Given the description of an element on the screen output the (x, y) to click on. 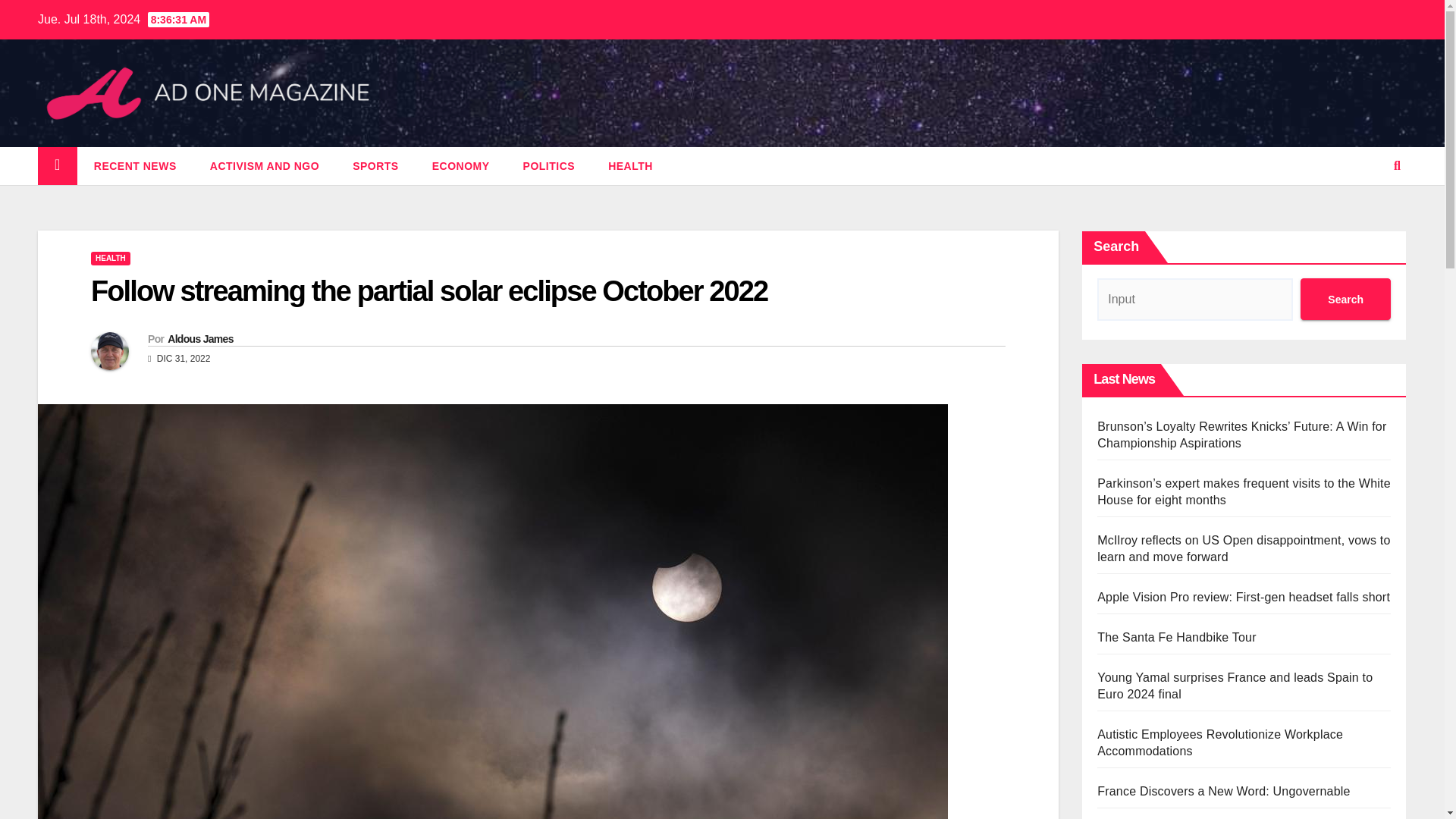
Health (630, 166)
Search (1345, 299)
Activism and NGO (264, 166)
Recent news (135, 166)
ECONOMY (460, 166)
RECENT NEWS (135, 166)
HEALTH (630, 166)
Economy (460, 166)
Sports (375, 166)
SPORTS (375, 166)
Aldous James (199, 338)
ACTIVISM AND NGO (264, 166)
HEALTH (110, 258)
